Given the description of an element on the screen output the (x, y) to click on. 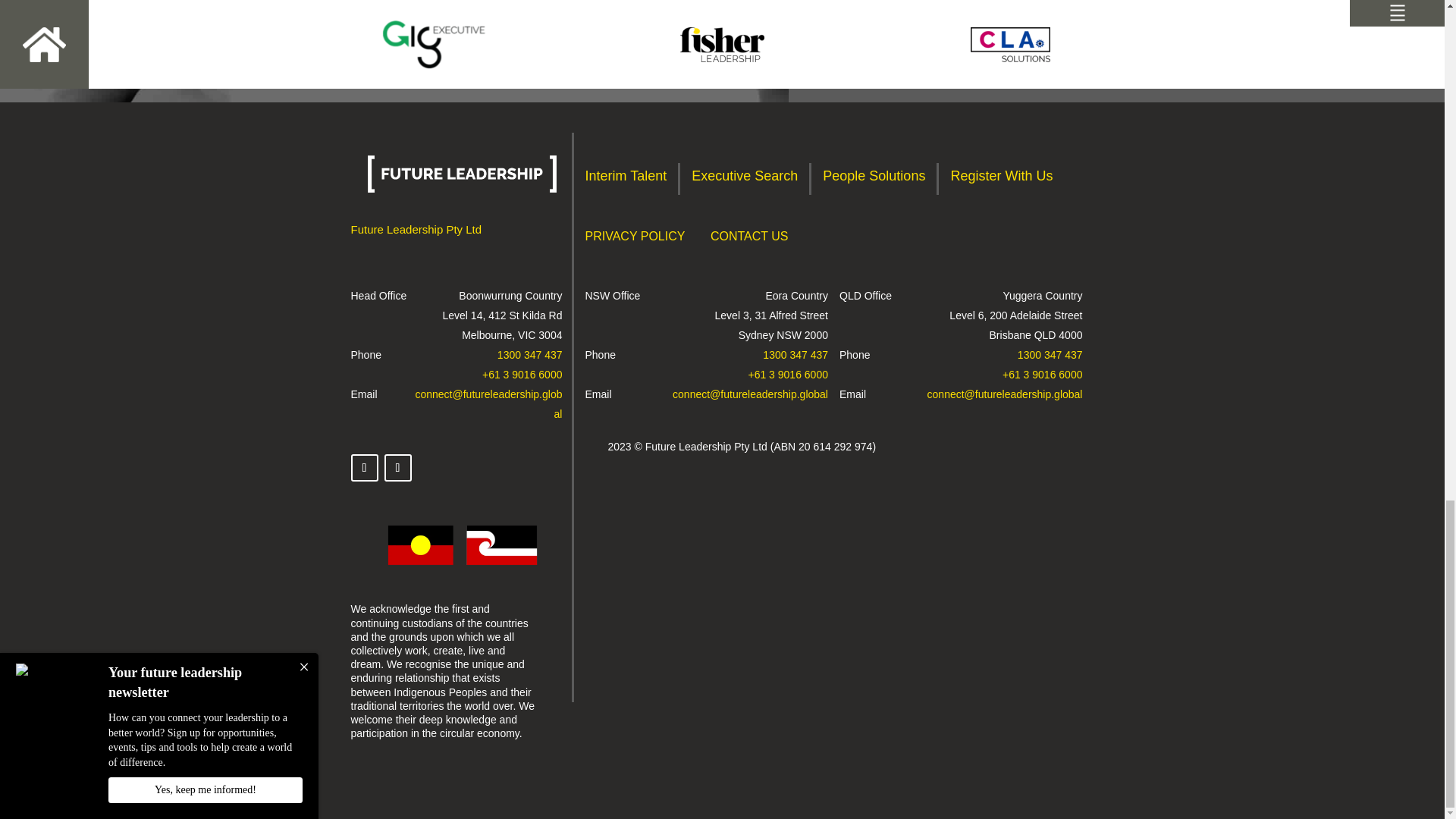
1300 347 437 (529, 354)
Untitled design-3 (461, 569)
Follow on LinkedIn (397, 467)
Follow on X (363, 467)
